Given the description of an element on the screen output the (x, y) to click on. 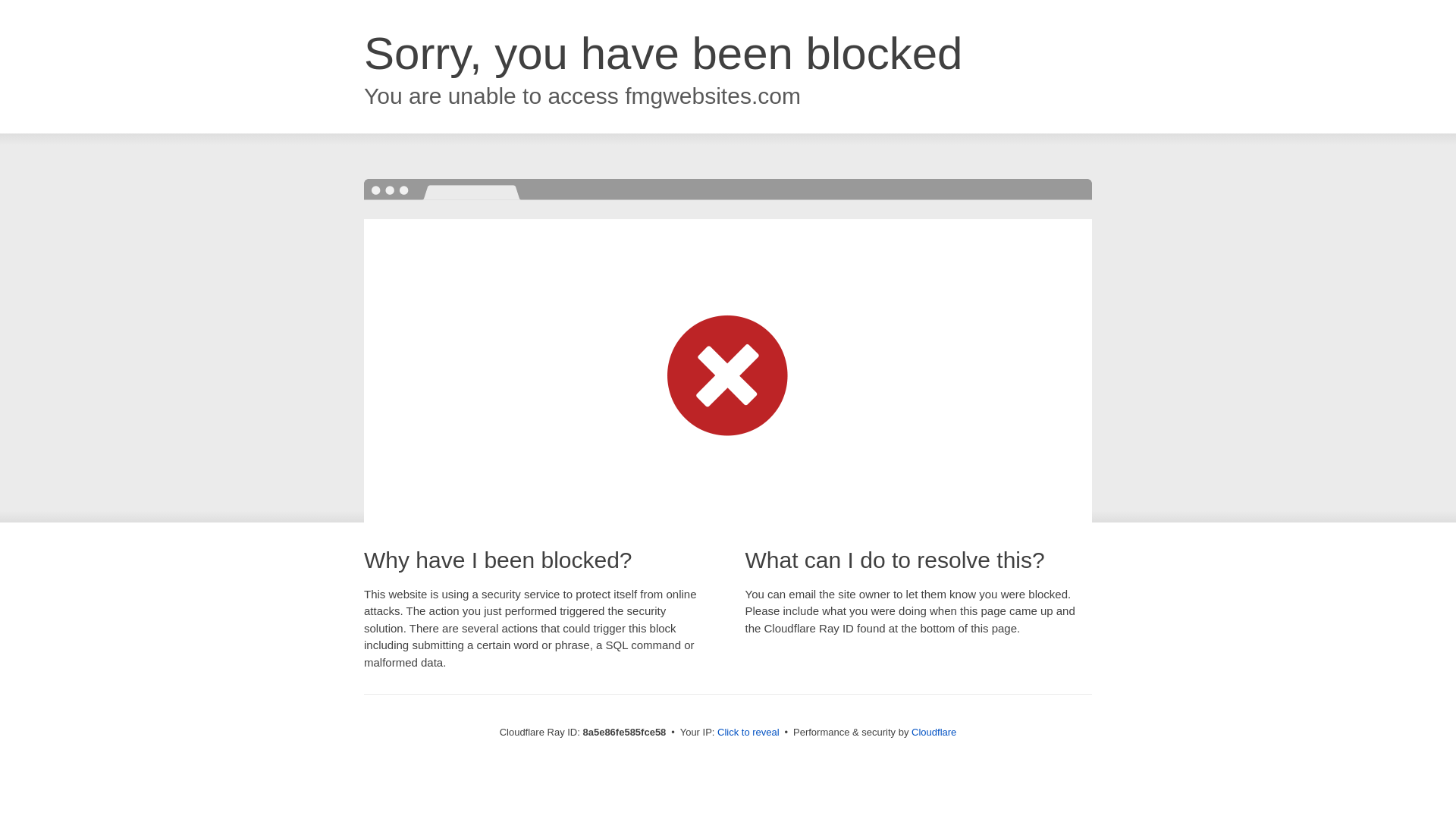
Cloudflare (933, 731)
Click to reveal (747, 732)
